Given the description of an element on the screen output the (x, y) to click on. 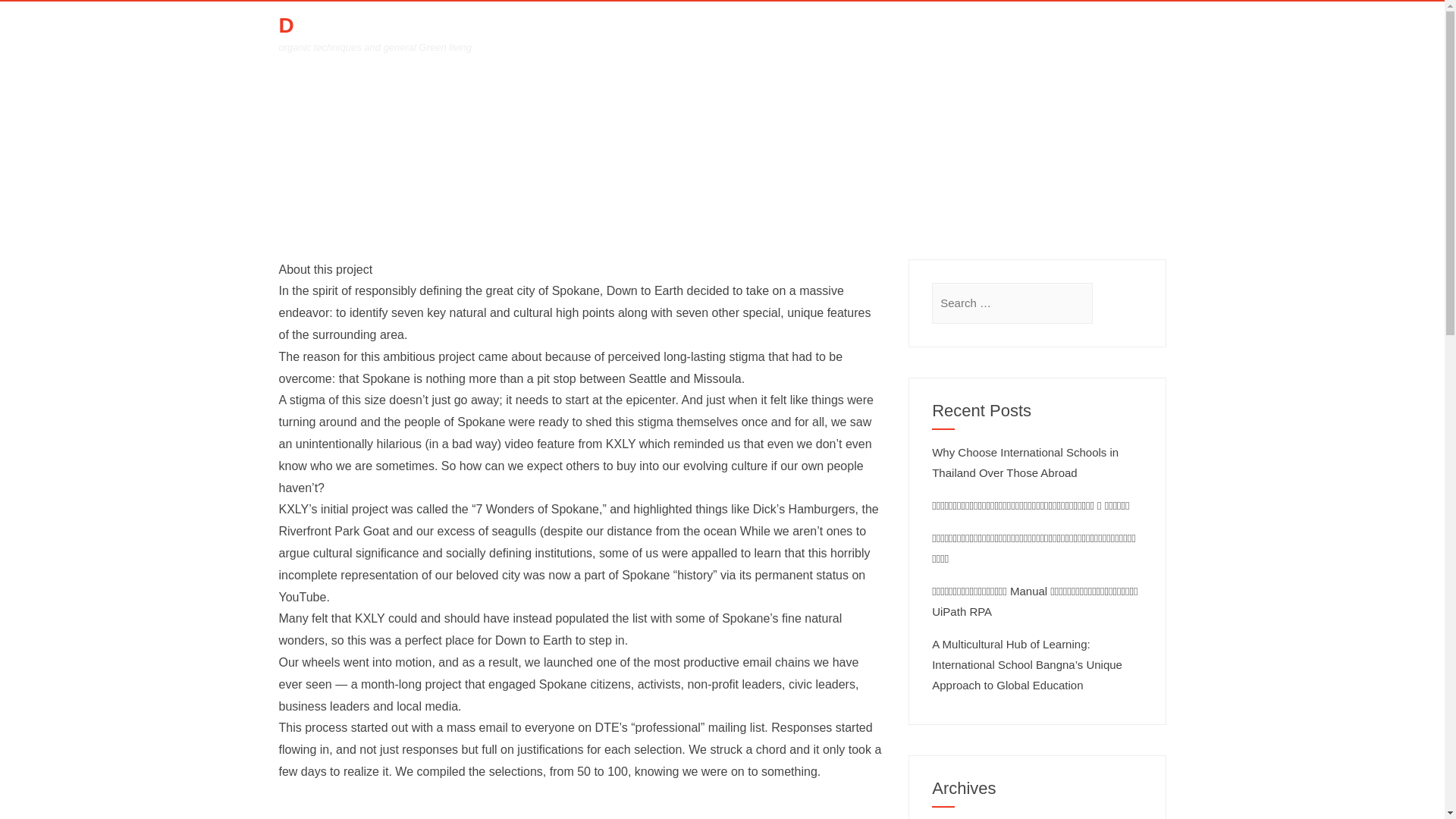
DOWN TO EARTH NW (396, 25)
HOME (762, 35)
Home (665, 158)
Search (33, 17)
PRIVACY POLICY (1007, 35)
BLOGS (913, 35)
ABOUT US (836, 35)
CONTACT US (1116, 35)
